Given the description of an element on the screen output the (x, y) to click on. 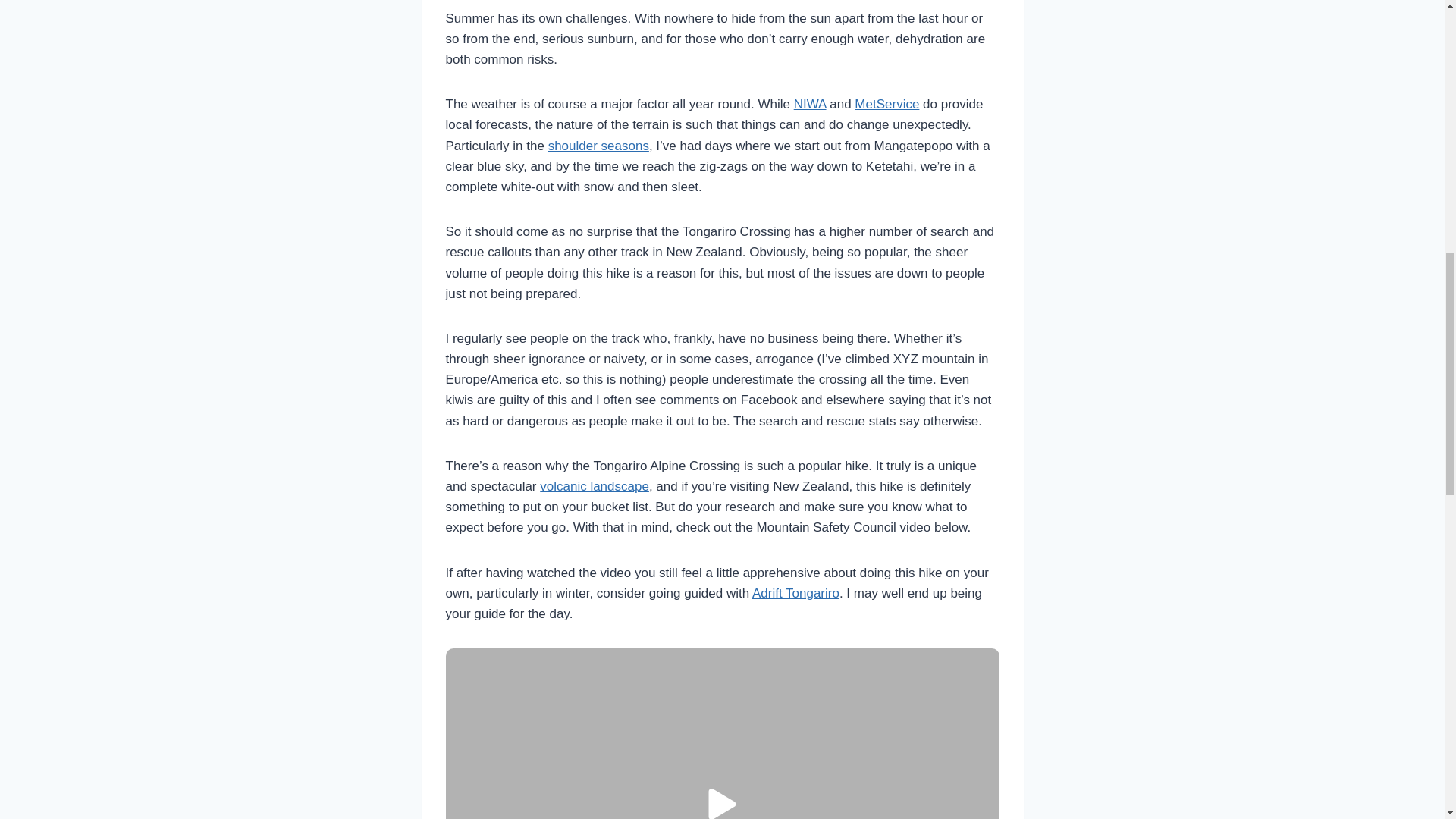
Adrift Tongariro (796, 593)
volcanic landscape (594, 486)
MetService (886, 104)
shoulder seasons (598, 145)
NIWA (810, 104)
